Given the description of an element on the screen output the (x, y) to click on. 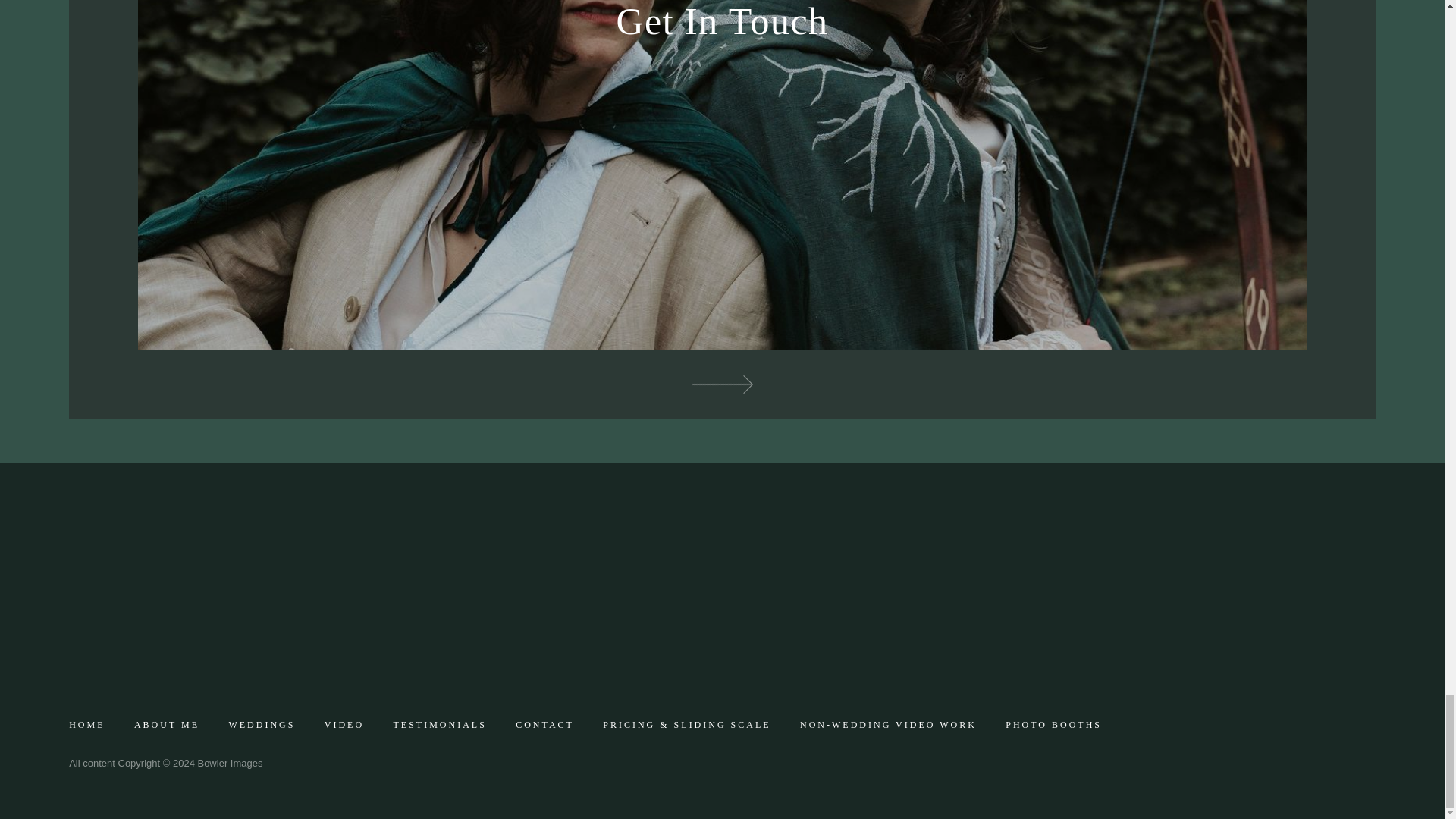
HOME (87, 725)
CONTACT (544, 725)
PHOTO BOOTHS (1053, 725)
ABOUT ME (166, 725)
NON-WEDDING VIDEO WORK (888, 725)
WEDDINGS (261, 725)
TESTIMONIALS (439, 725)
VIDEO (344, 725)
